Given the description of an element on the screen output the (x, y) to click on. 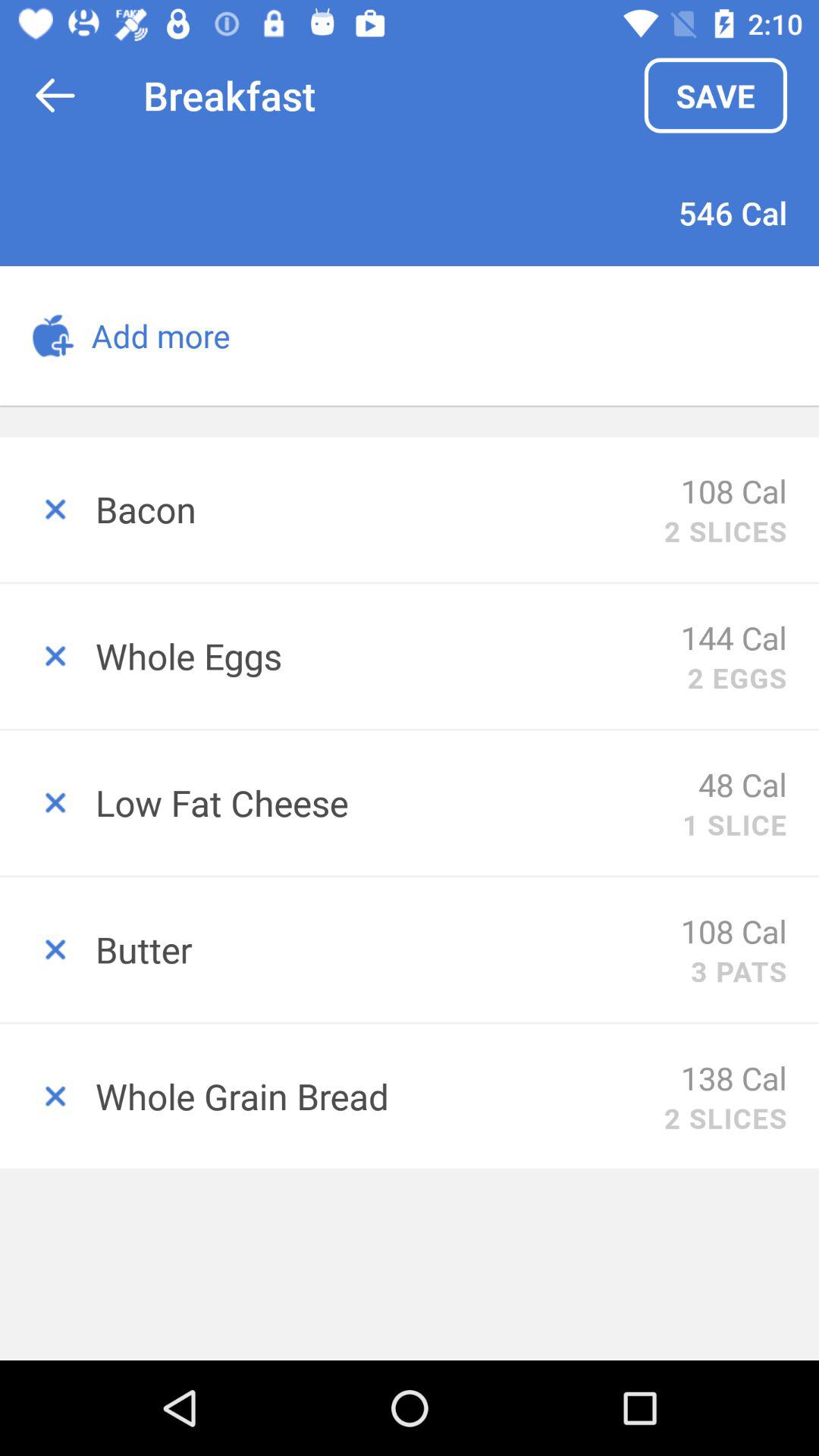
jump to the 144 cal item (733, 637)
